Given the description of an element on the screen output the (x, y) to click on. 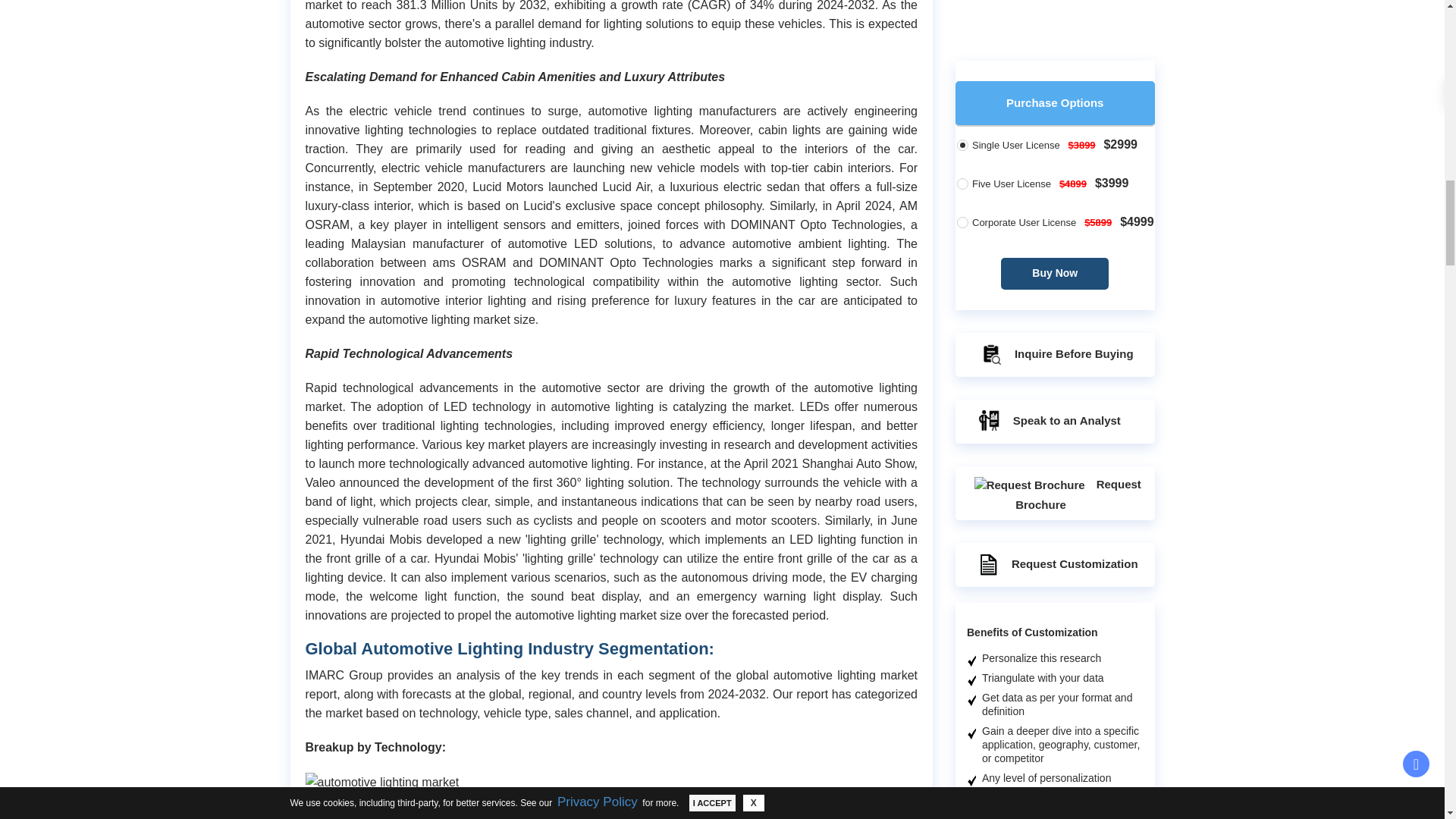
Know more (1081, 201)
Know more (1081, 474)
Know more (1081, 746)
